Given the description of an element on the screen output the (x, y) to click on. 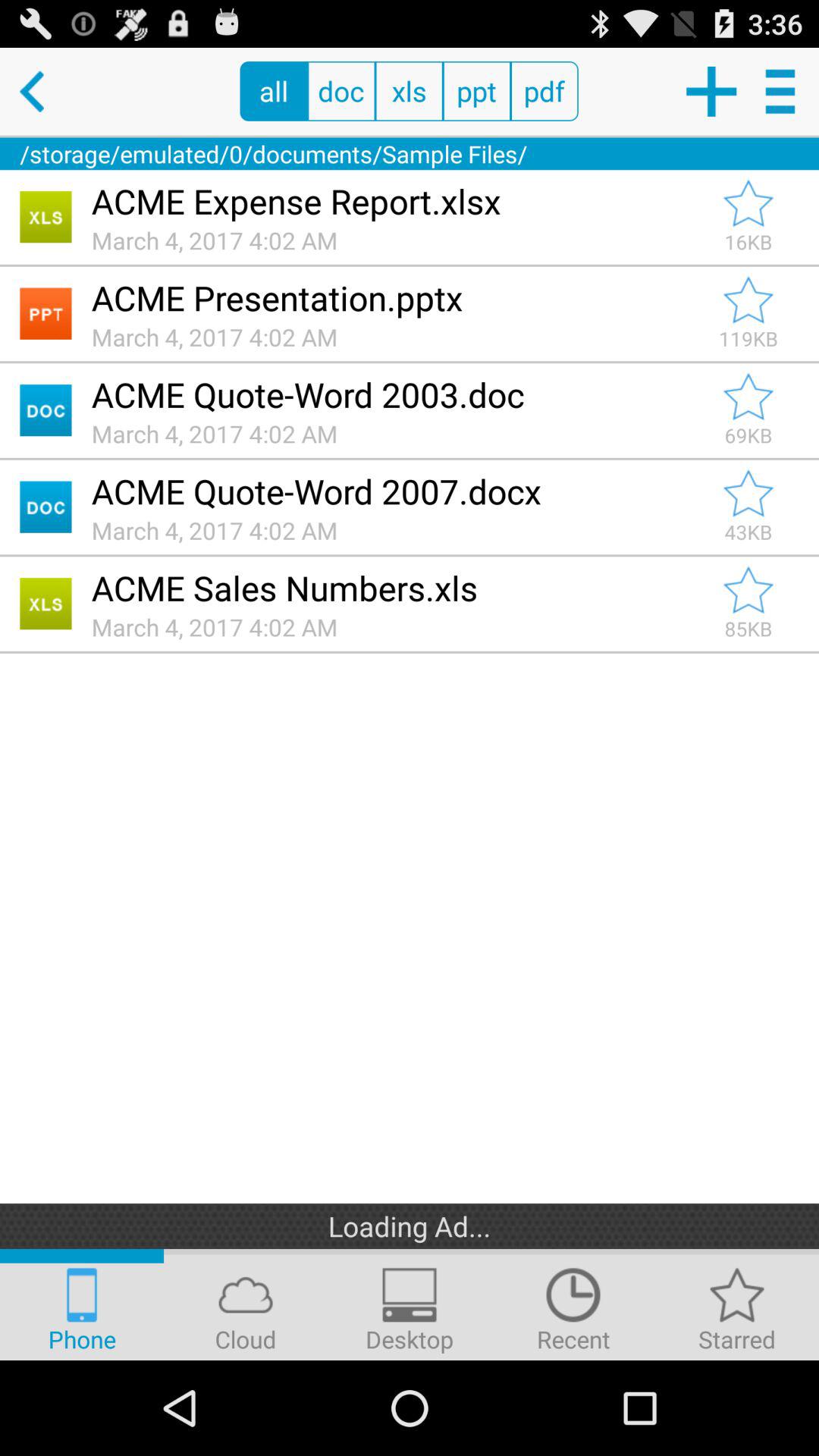
favorite acme expense report (748, 203)
